Given the description of an element on the screen output the (x, y) to click on. 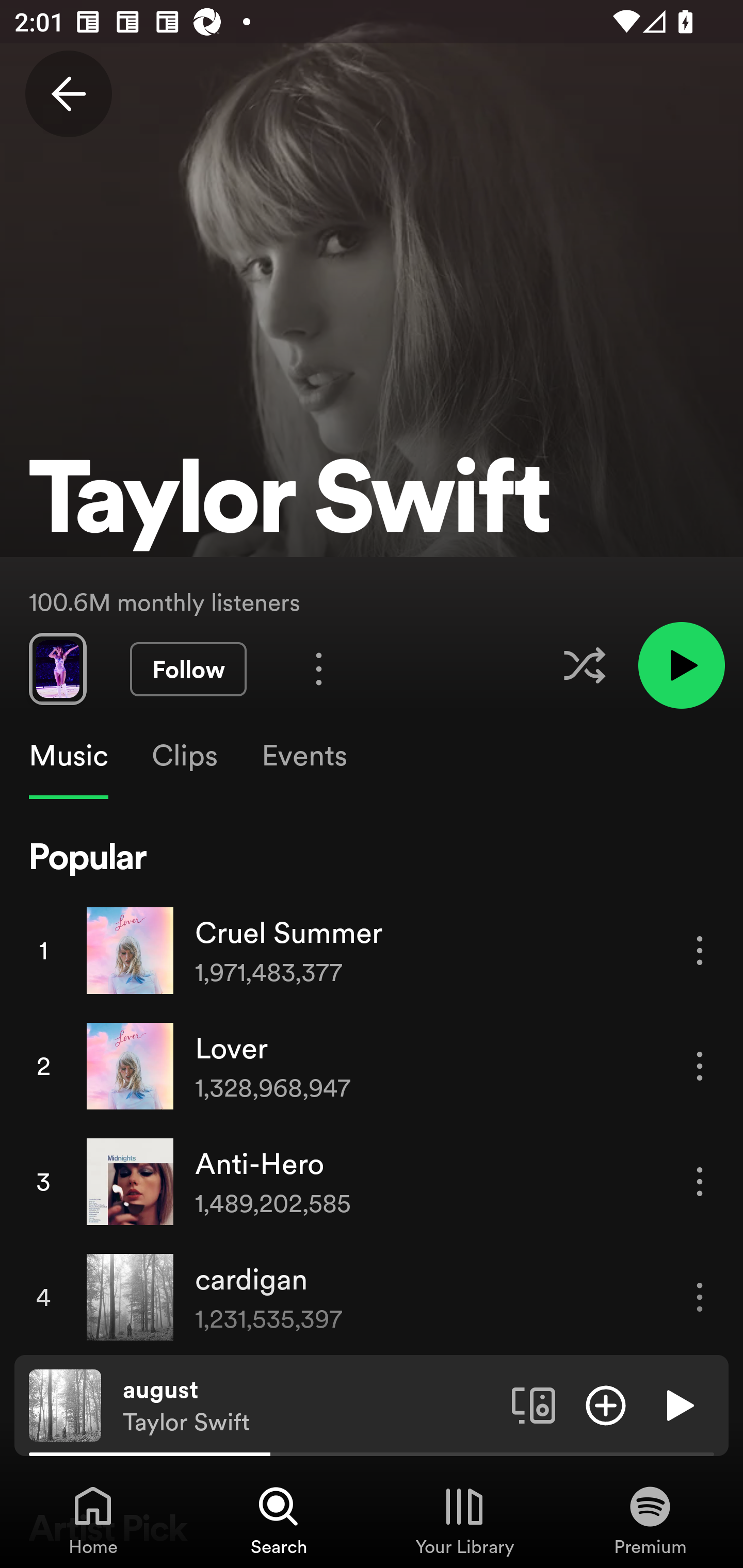
Back (68, 93)
Play artist (681, 664)
Enable shuffle for this artist (583, 665)
Swipe through previews of tracks from this artist. (57, 668)
More options for artist Taylor Swift (318, 668)
Follow (188, 669)
Clips (184, 755)
Events (303, 755)
More options for song Cruel Summer (699, 950)
2 Lover 1,328,968,947 More options for song Lover (371, 1066)
More options for song Lover (699, 1066)
More options for song Anti-Hero (699, 1181)
More options for song cardigan (699, 1297)
august Taylor Swift (309, 1405)
The cover art of the currently playing track (64, 1404)
Connect to a device. Opens the devices menu (533, 1404)
Add item (605, 1404)
Play (677, 1404)
Home, Tab 1 of 4 Home Home (92, 1519)
Search, Tab 2 of 4 Search Search (278, 1519)
Your Library, Tab 3 of 4 Your Library Your Library (464, 1519)
Premium, Tab 4 of 4 Premium Premium (650, 1519)
